Given the description of an element on the screen output the (x, y) to click on. 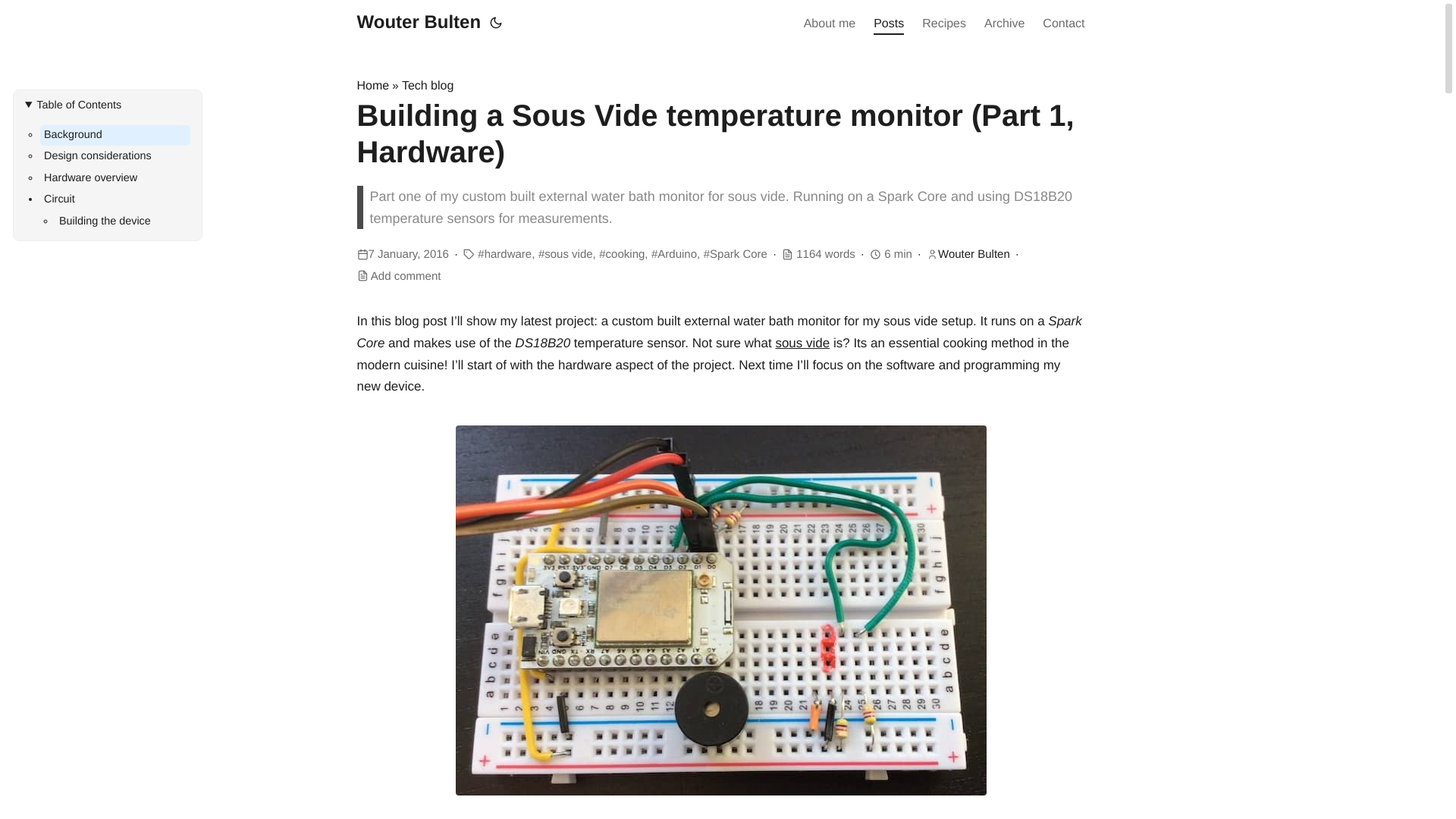
Archive (1004, 24)
Circuit (115, 199)
Posts (888, 24)
Arduino (675, 254)
Posts (888, 24)
Design considerations (115, 156)
About me (829, 24)
hardware (505, 254)
Home (372, 86)
Archive (1004, 24)
Add comment (406, 276)
Building the device (122, 221)
Tech blog (427, 86)
Hardware overview (115, 178)
cooking (622, 254)
